Given the description of an element on the screen output the (x, y) to click on. 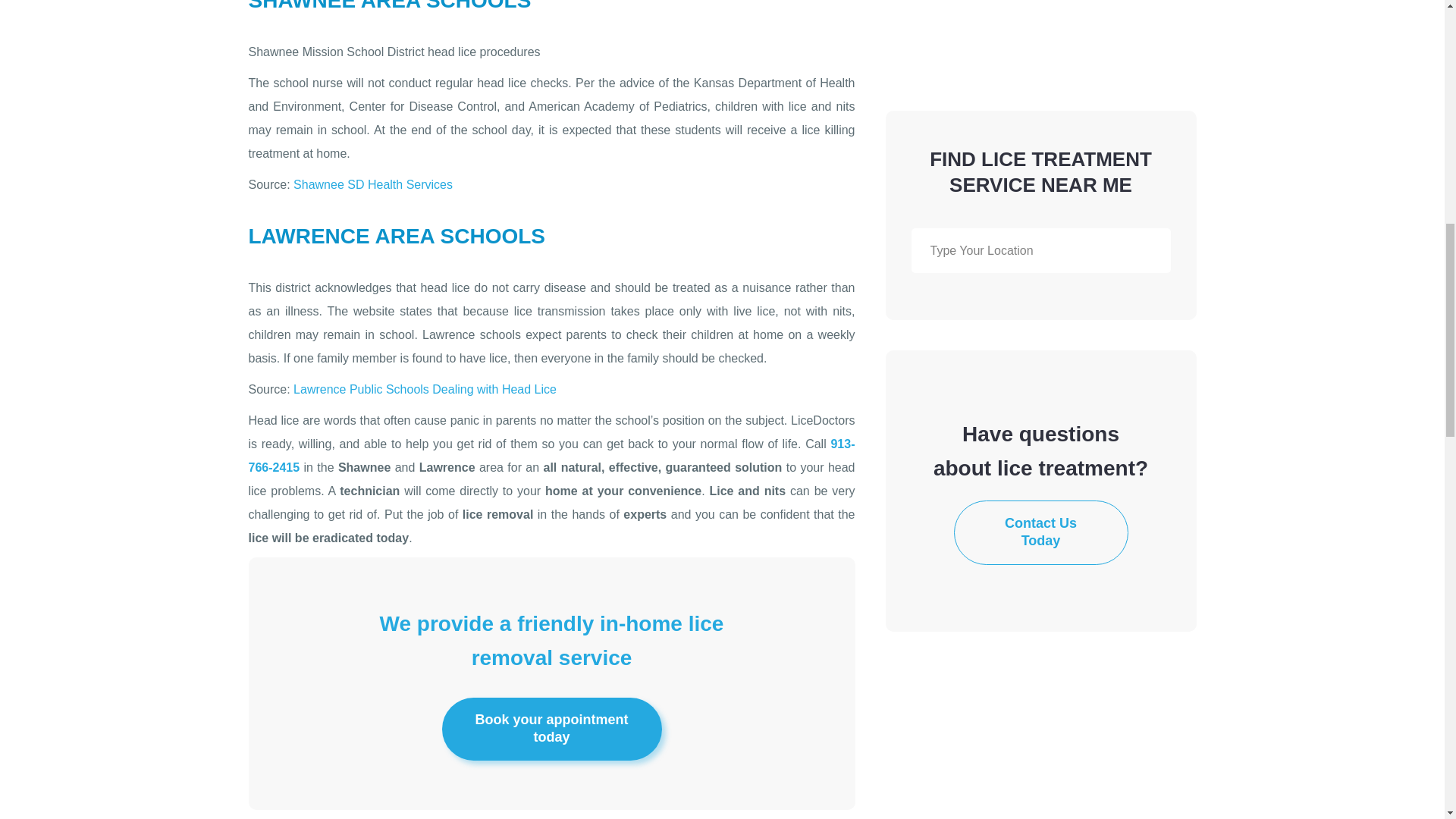
913-766-2415 (552, 455)
Book your appointment today (551, 728)
Shawnee SD Health Services (373, 184)
Lawrence Public Schools Dealing with Head Lice (425, 389)
